Given the description of an element on the screen output the (x, y) to click on. 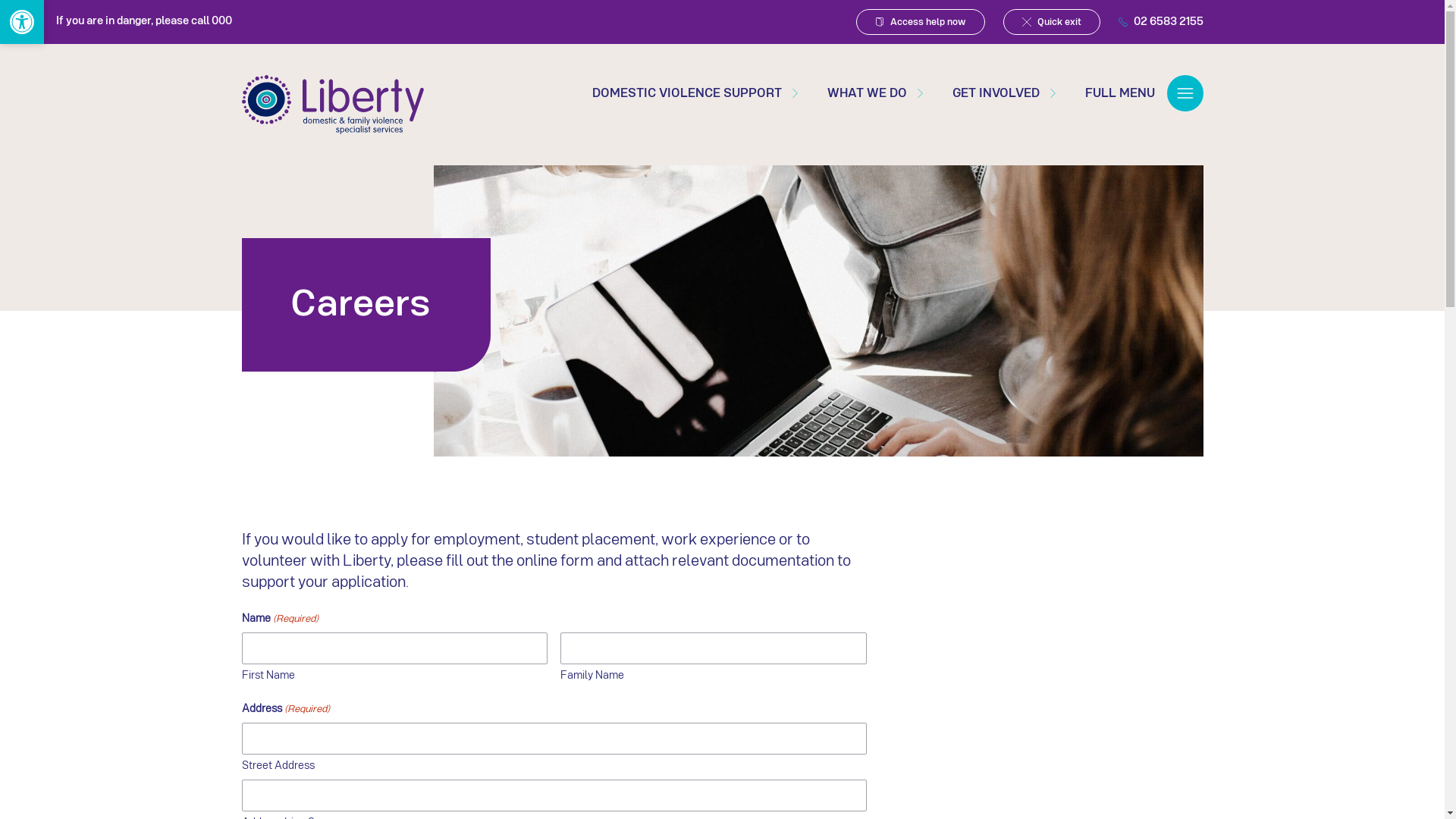
02 6583 2155 Element type: text (1159, 21)
WHAT WE DO Element type: text (875, 93)
GET INVOLVED Element type: text (1004, 93)
Open toolbar Element type: text (21, 21)
DOMESTIC VIOLENCE SUPPORT Element type: text (695, 93)
Access help now Element type: text (919, 21)
Log In Element type: text (721, 488)
Quick exit Element type: text (1050, 21)
FULL MENU Element type: text (1143, 93)
